Given the description of an element on the screen output the (x, y) to click on. 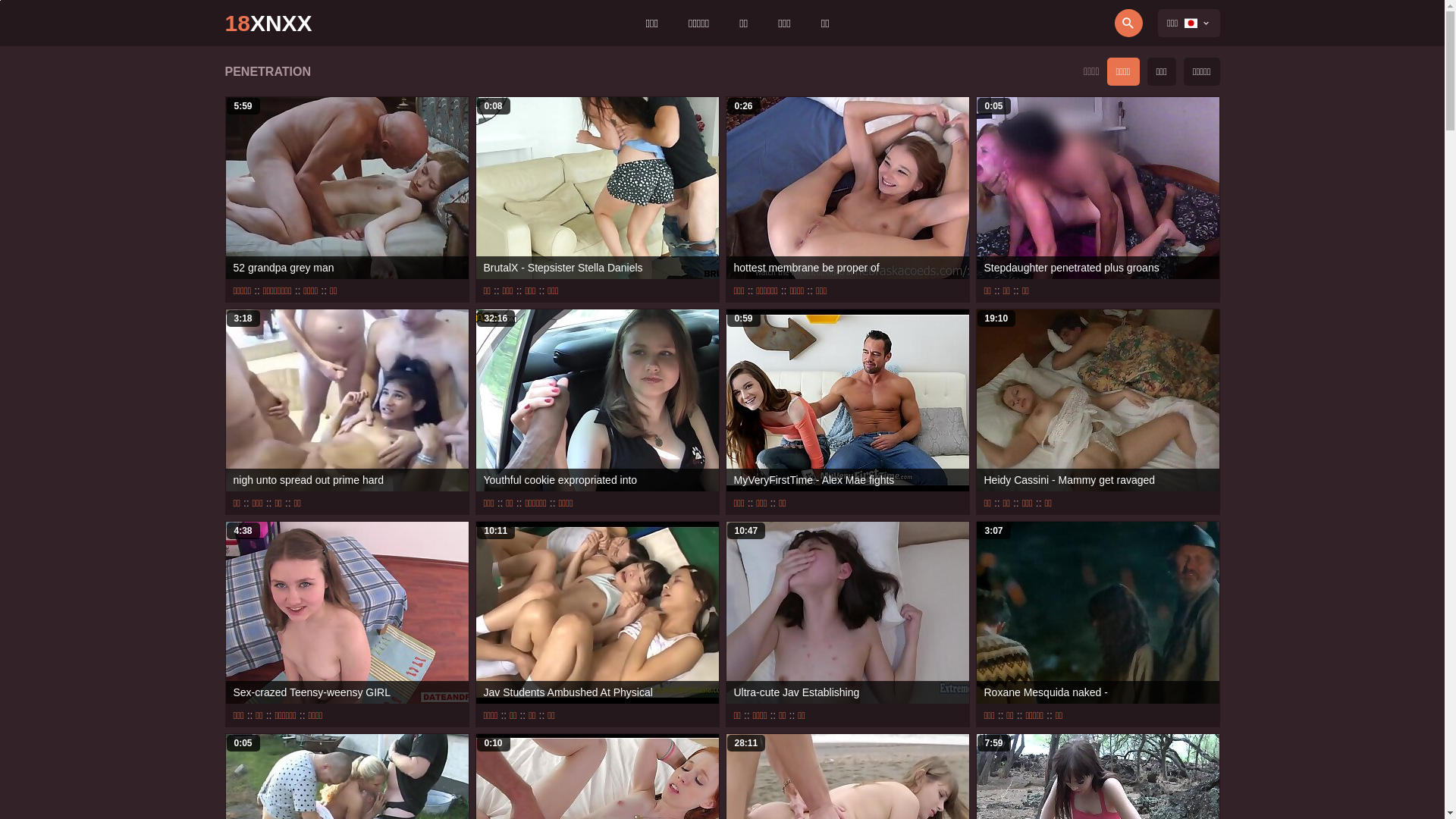
19:10
Heidy Cassini - Mammy get ravaged Element type: text (1097, 400)
4:38
Sex-crazed Teensy-weensy GIRL Element type: text (346, 612)
3:18
nigh unto spread out prime hard Element type: text (346, 400)
0:59
MyVeryFirstTime - Alex Mae fights Element type: text (847, 400)
0:08
BrutalX - Stepsister Stella Daniels Element type: text (597, 188)
0:05
Stepdaughter penetrated plus groans Element type: text (1097, 188)
3:07
Roxane Mesquida naked - Element type: text (1097, 612)
10:47
Ultra-cute Jav Establishing Element type: text (847, 612)
10:11
Jav Students Ambushed At Physical Element type: text (597, 612)
5:59
52 grandpa grey man Element type: text (346, 188)
18XNXX Element type: text (267, 23)
Search Element type: text (1085, 23)
32:16
Youthful cookie expropriated into Element type: text (597, 400)
0:26
hottest membrane be proper of Element type: text (847, 188)
